Given the description of an element on the screen output the (x, y) to click on. 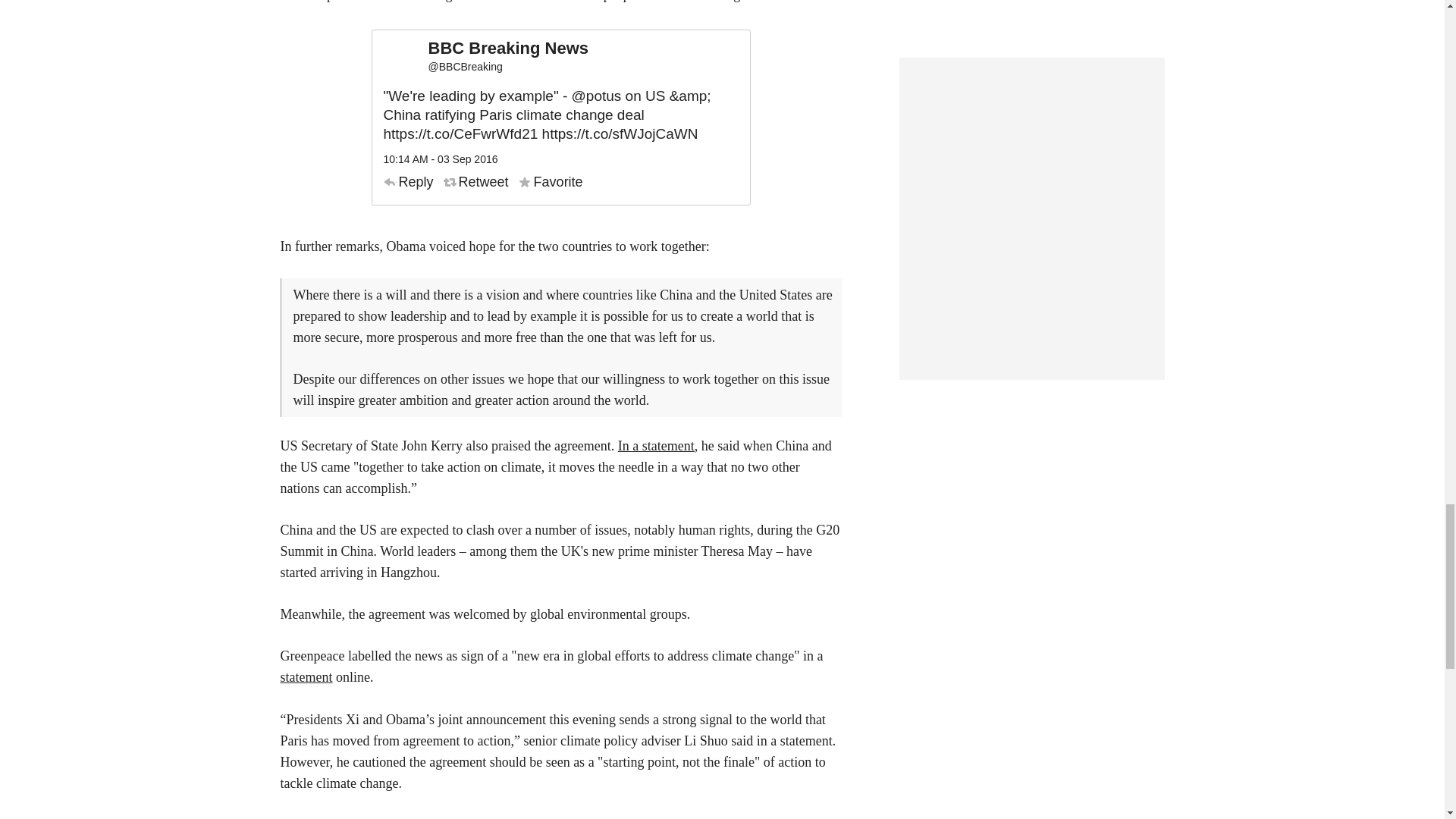
Favorite (550, 181)
BBC Breaking News (508, 48)
In a statement (655, 445)
Retweet (476, 181)
statement (307, 676)
Reply (408, 181)
10:14 AM - 03 Sep 2016 (440, 159)
